Given the description of an element on the screen output the (x, y) to click on. 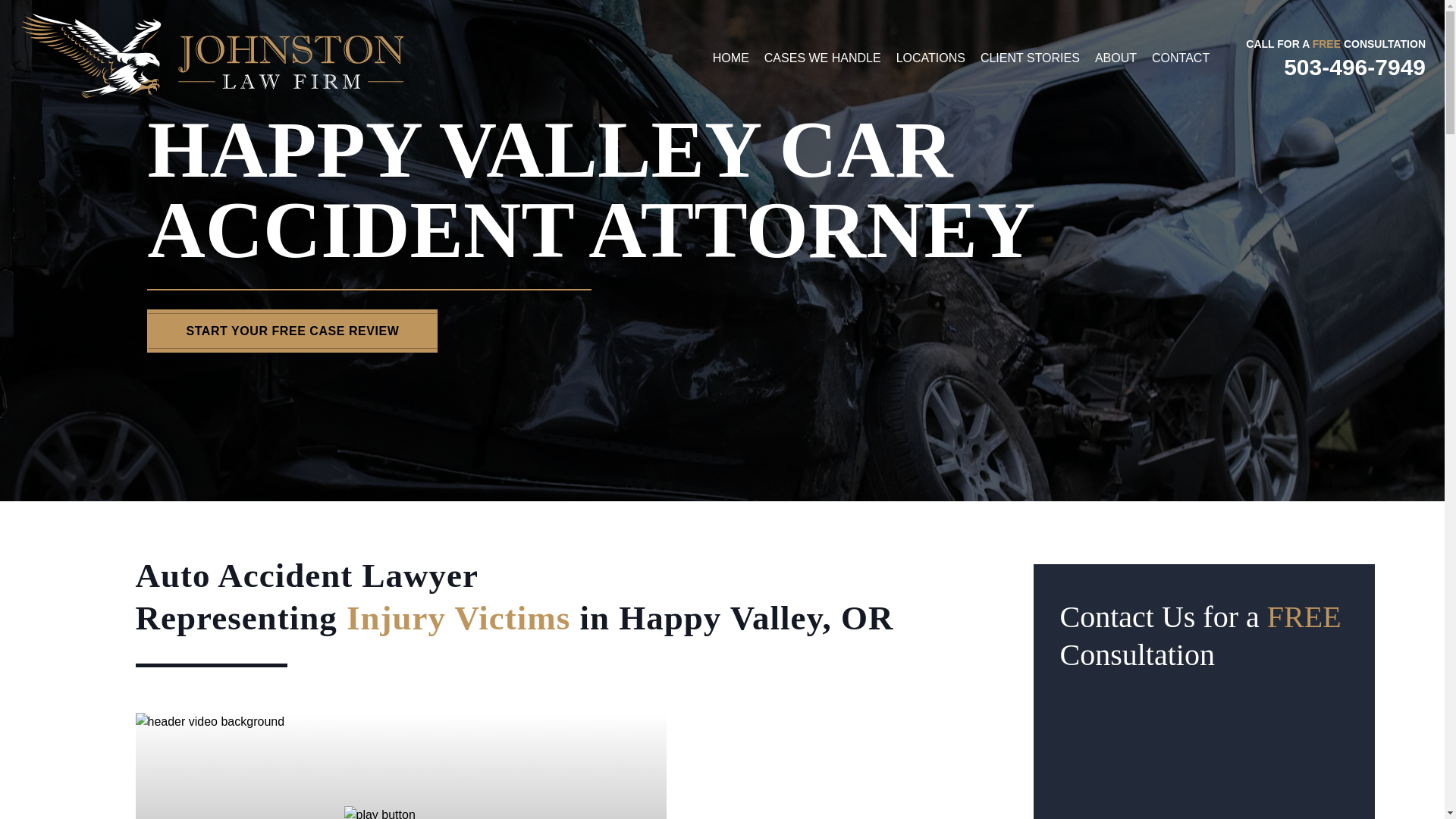
CASES WE HANDLE (822, 57)
HOME (731, 57)
LOCATIONS (930, 57)
